Given the description of an element on the screen output the (x, y) to click on. 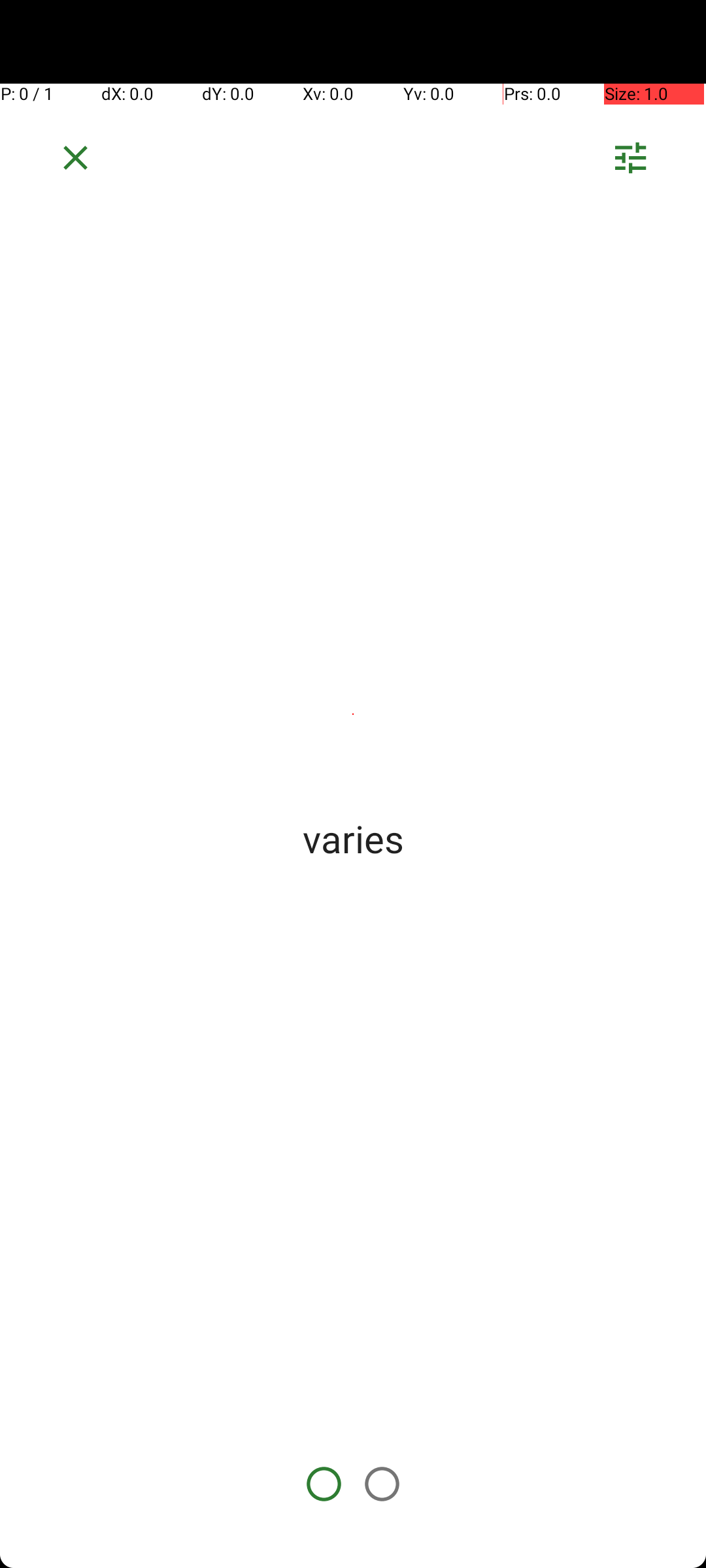
varies Element type: android.widget.TextView (352, 838)
